Given the description of an element on the screen output the (x, y) to click on. 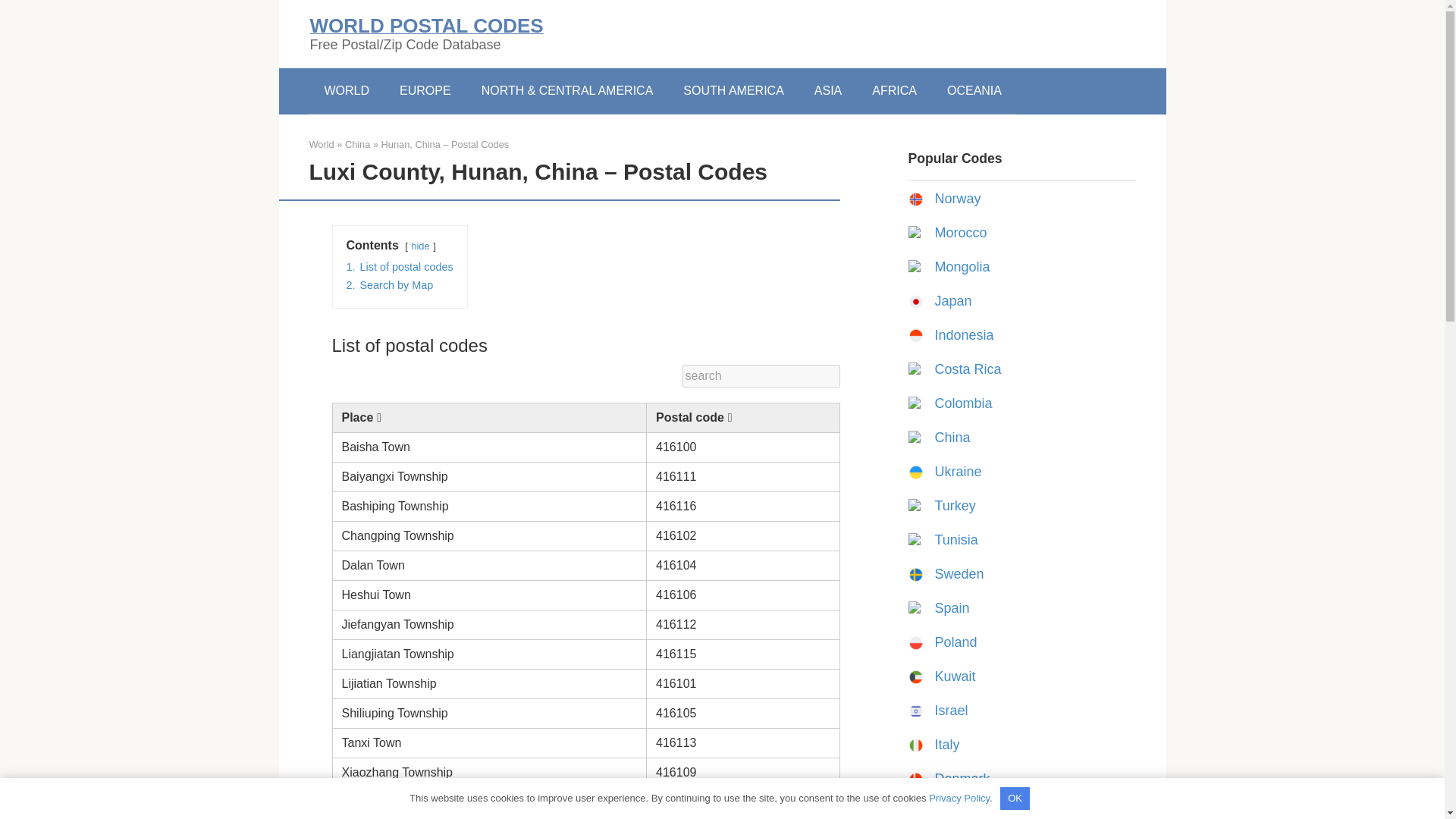
Turkey (954, 505)
Tunisia (955, 539)
hide (419, 245)
China (357, 143)
Mongolia (962, 266)
1. List of postal codes (399, 266)
China (951, 437)
Colombia (962, 403)
World (321, 143)
WORLD (346, 90)
